Given the description of an element on the screen output the (x, y) to click on. 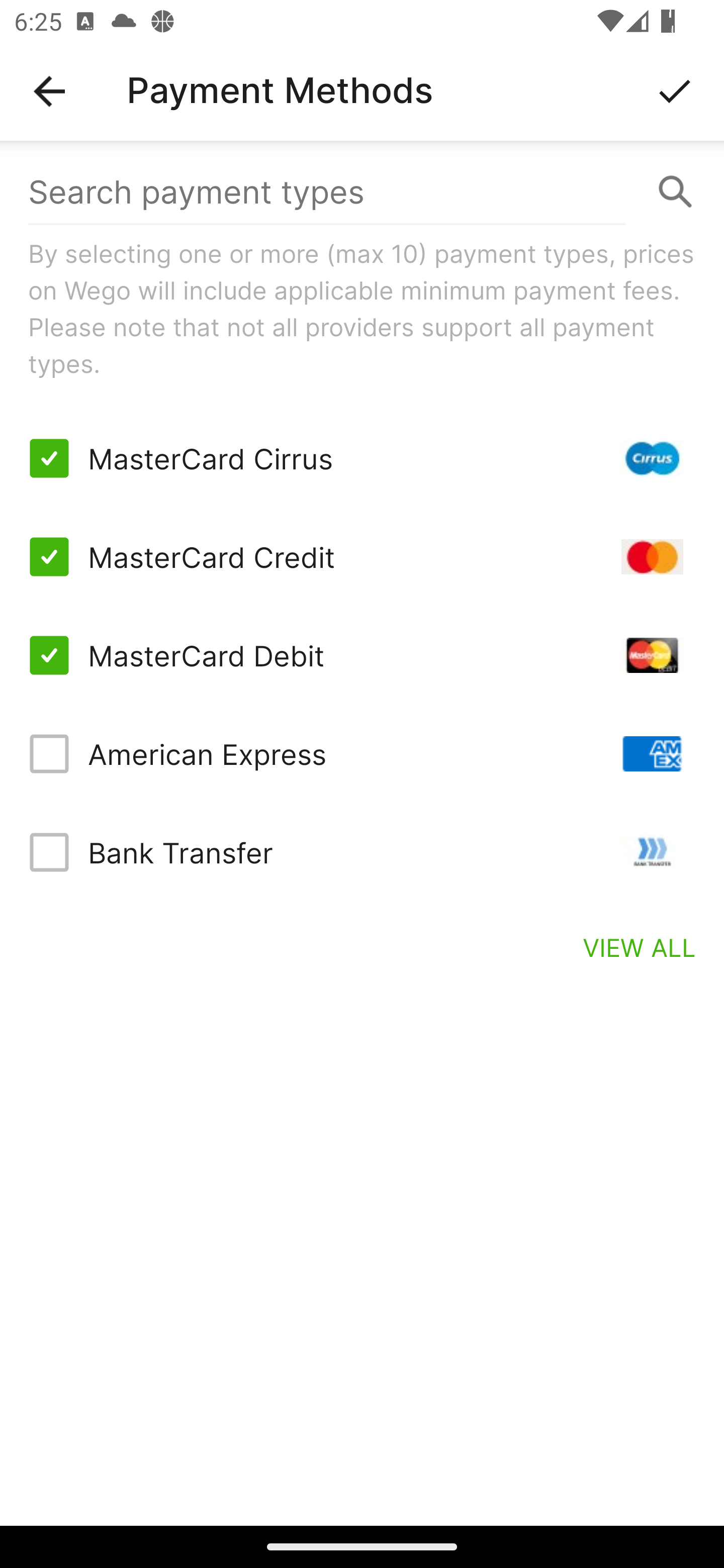
Search payment types  (361, 191)
MasterCard Cirrus (362, 458)
MasterCard Credit (362, 557)
MasterCard Debit (362, 655)
American Express (362, 753)
Bank Transfer (362, 851)
VIEW ALL (639, 946)
